Given the description of an element on the screen output the (x, y) to click on. 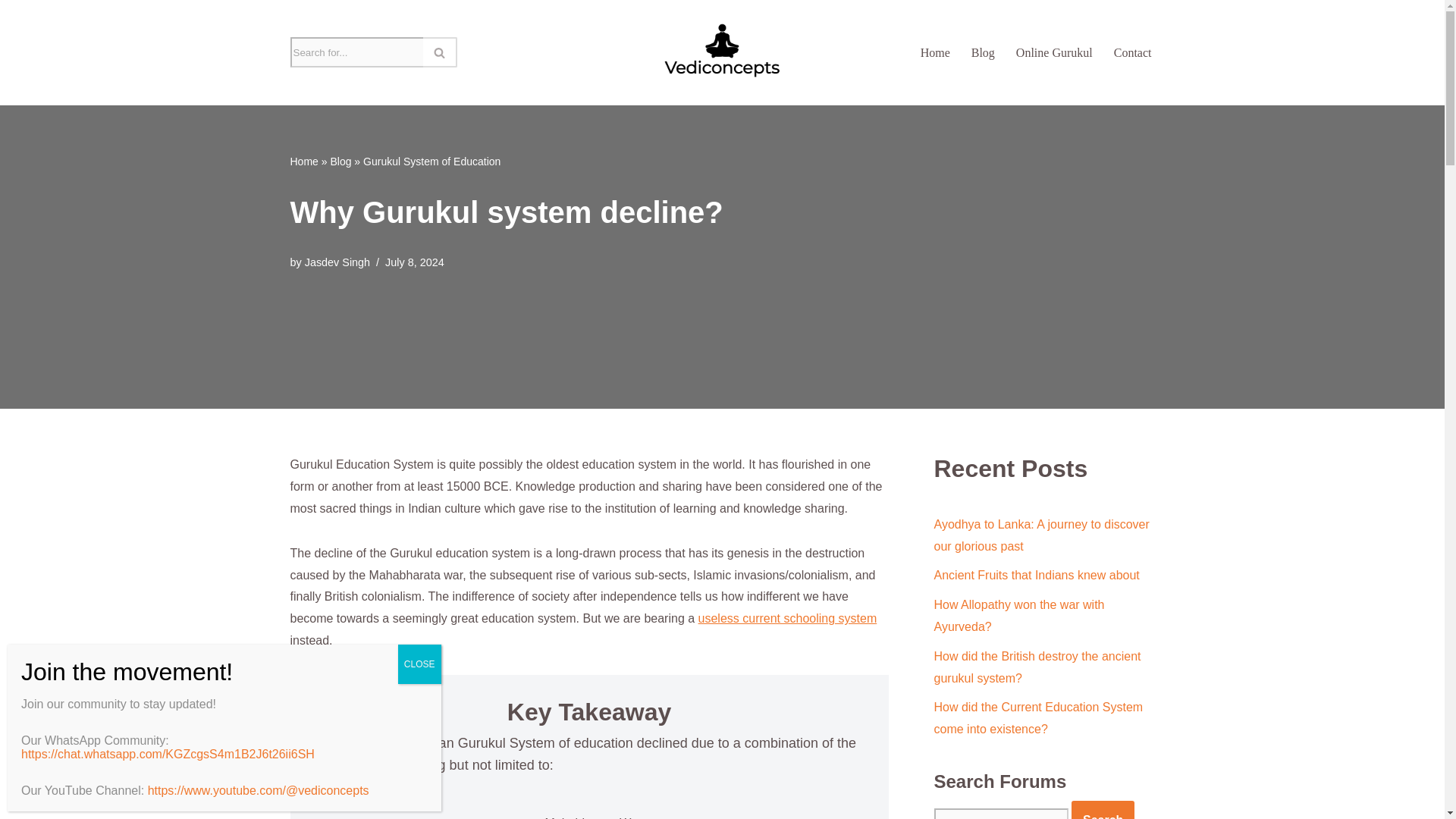
Blog (982, 52)
Skip to content (11, 31)
Ayodhya to Lanka: A journey to discover our glorious past (1042, 534)
Contact (1132, 52)
Home (935, 52)
Home (303, 161)
How did the Current Education System come into existence? (1038, 718)
Gurukul System of Education (431, 161)
Jasdev Singh (336, 262)
Posts by Jasdev Singh (336, 262)
useless current schooling system (787, 617)
How did the British destroy the ancient gurukul system? (1037, 667)
How Allopathy won the war with Ayurveda? (1019, 615)
Online Gurukul (1054, 52)
Blog (340, 161)
